Given the description of an element on the screen output the (x, y) to click on. 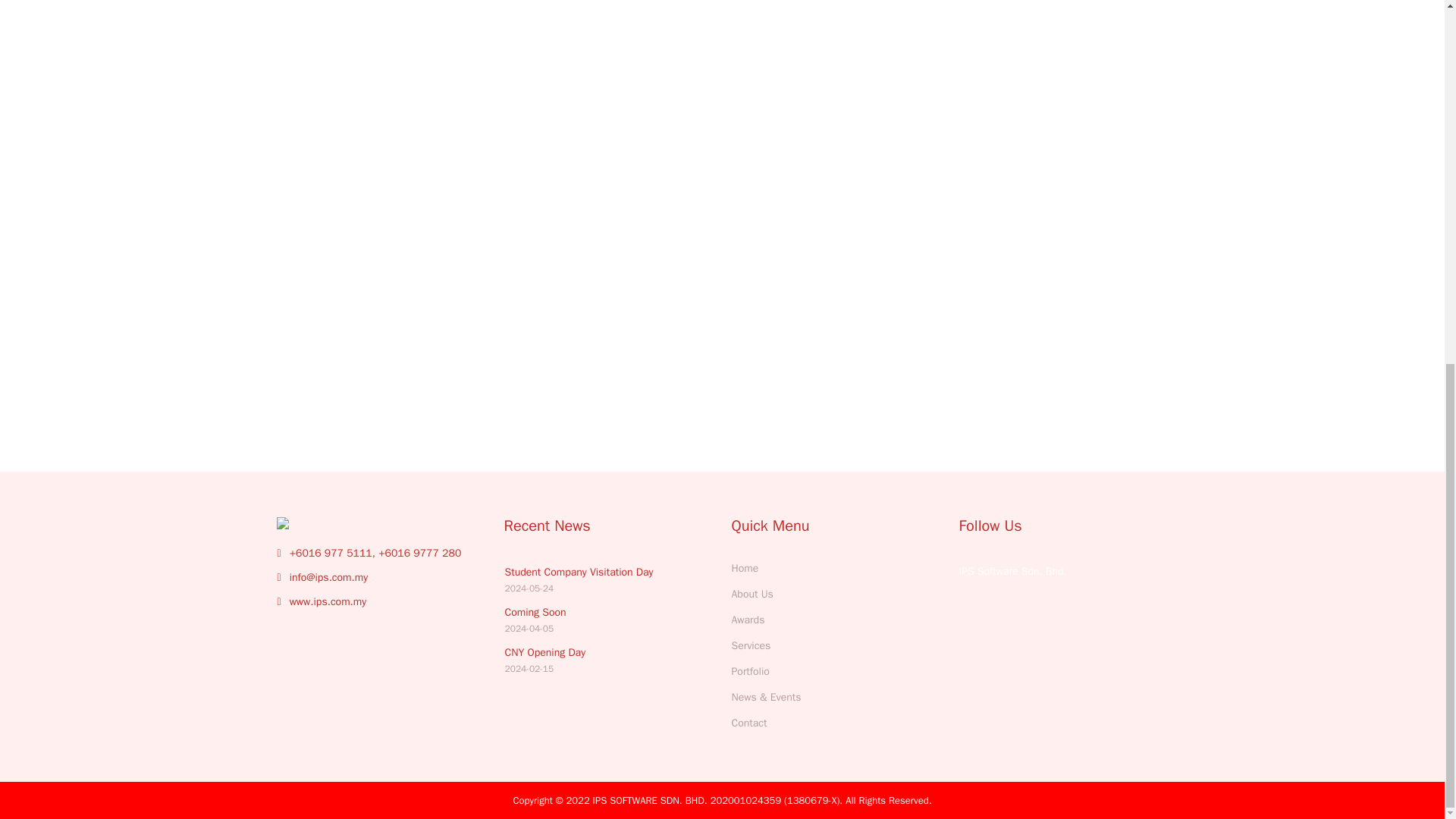
Services (579, 579)
Awards (750, 645)
www.ips.com.my (545, 660)
Home (535, 620)
About Us (747, 620)
